Given the description of an element on the screen output the (x, y) to click on. 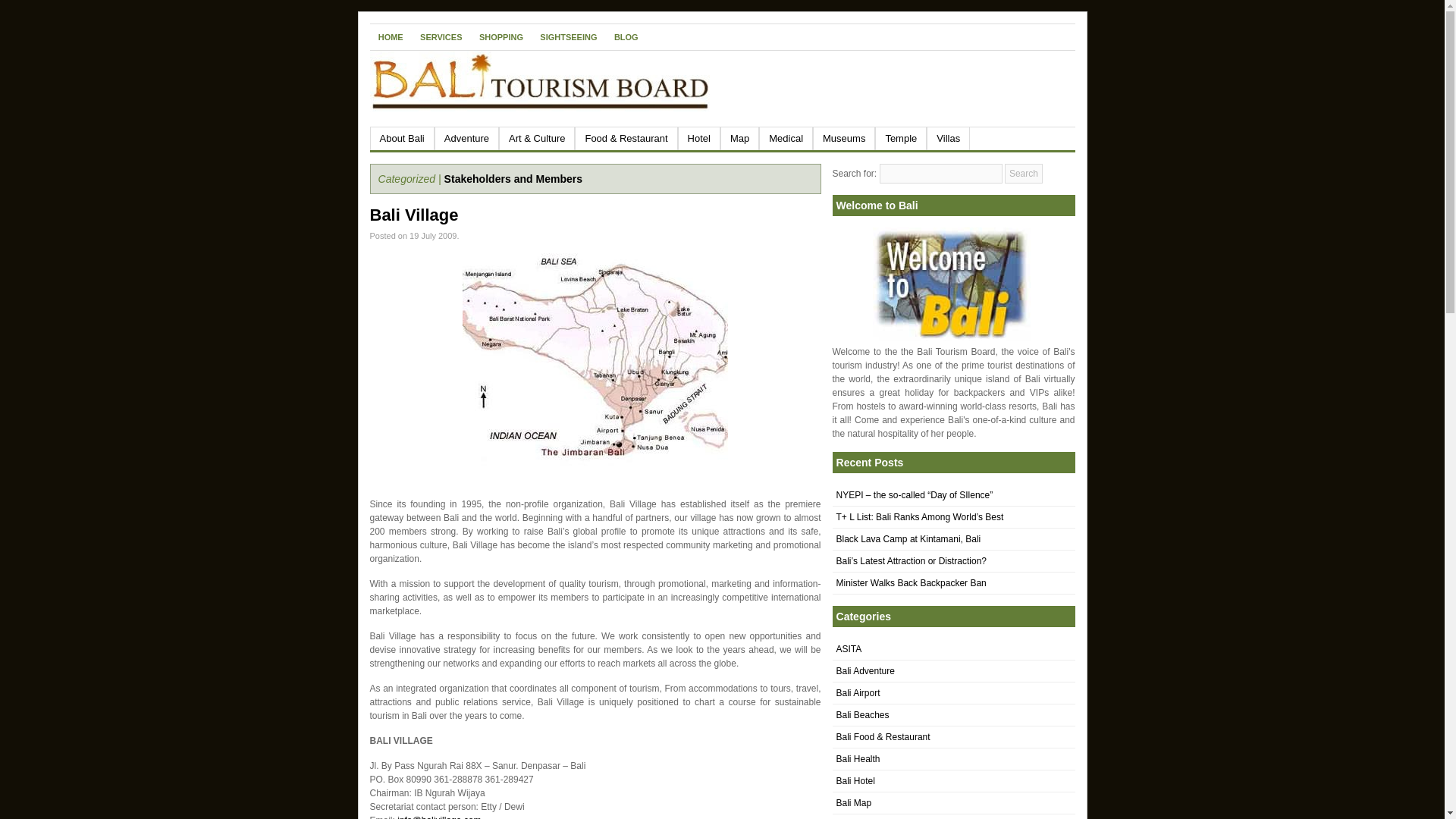
Bali Hotel (855, 780)
Temple (900, 138)
Bali Map (852, 802)
BLOG (625, 36)
Villas (947, 138)
Black Lava Camp at Kintamani, Bali (907, 538)
HOME (390, 36)
Bali Tourism Board (950, 284)
Adventure (466, 138)
SIGHTSEEING (568, 36)
